Given the description of an element on the screen output the (x, y) to click on. 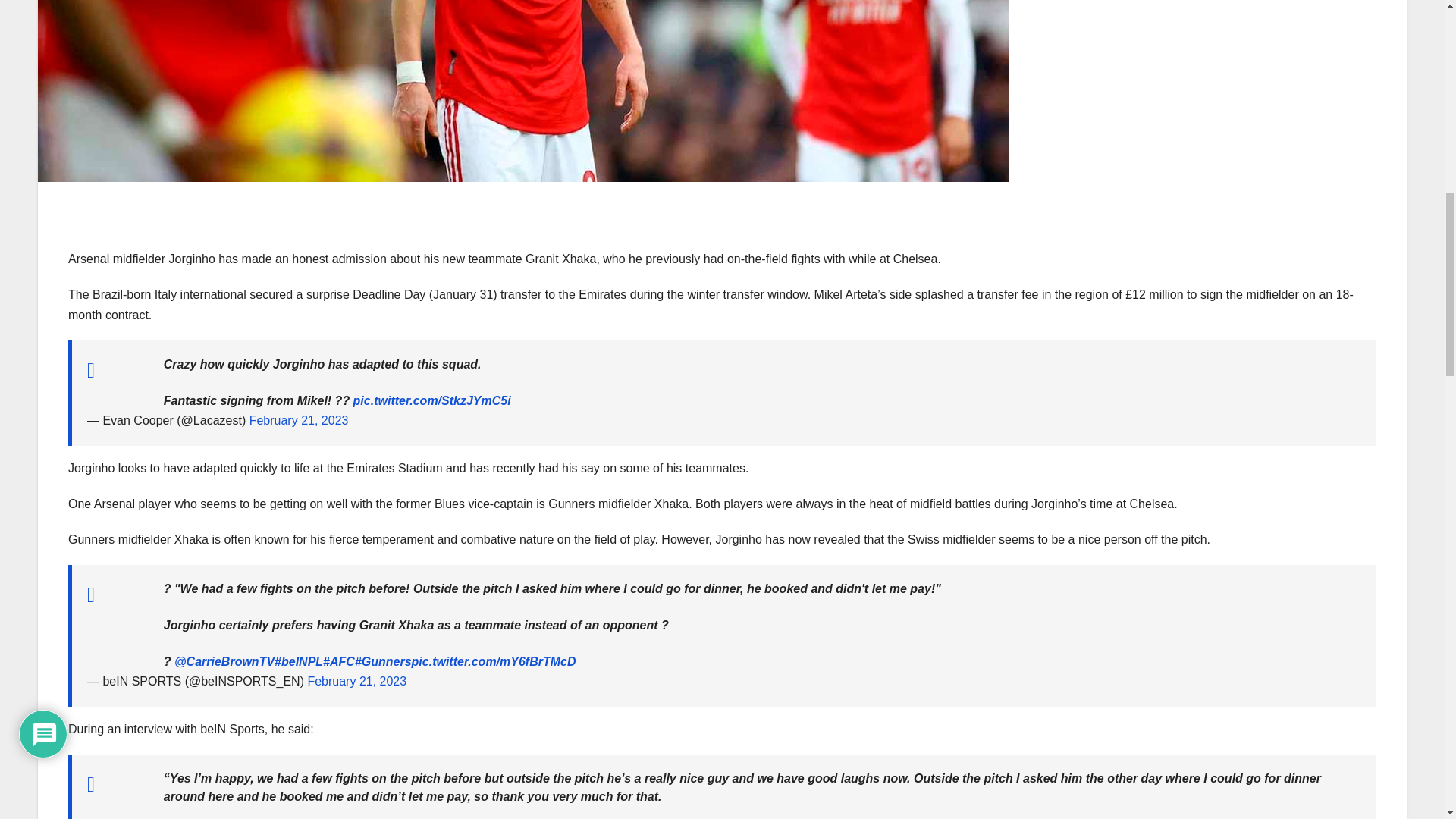
February 21, 2023 (356, 680)
February 21, 2023 (298, 420)
